Given the description of an element on the screen output the (x, y) to click on. 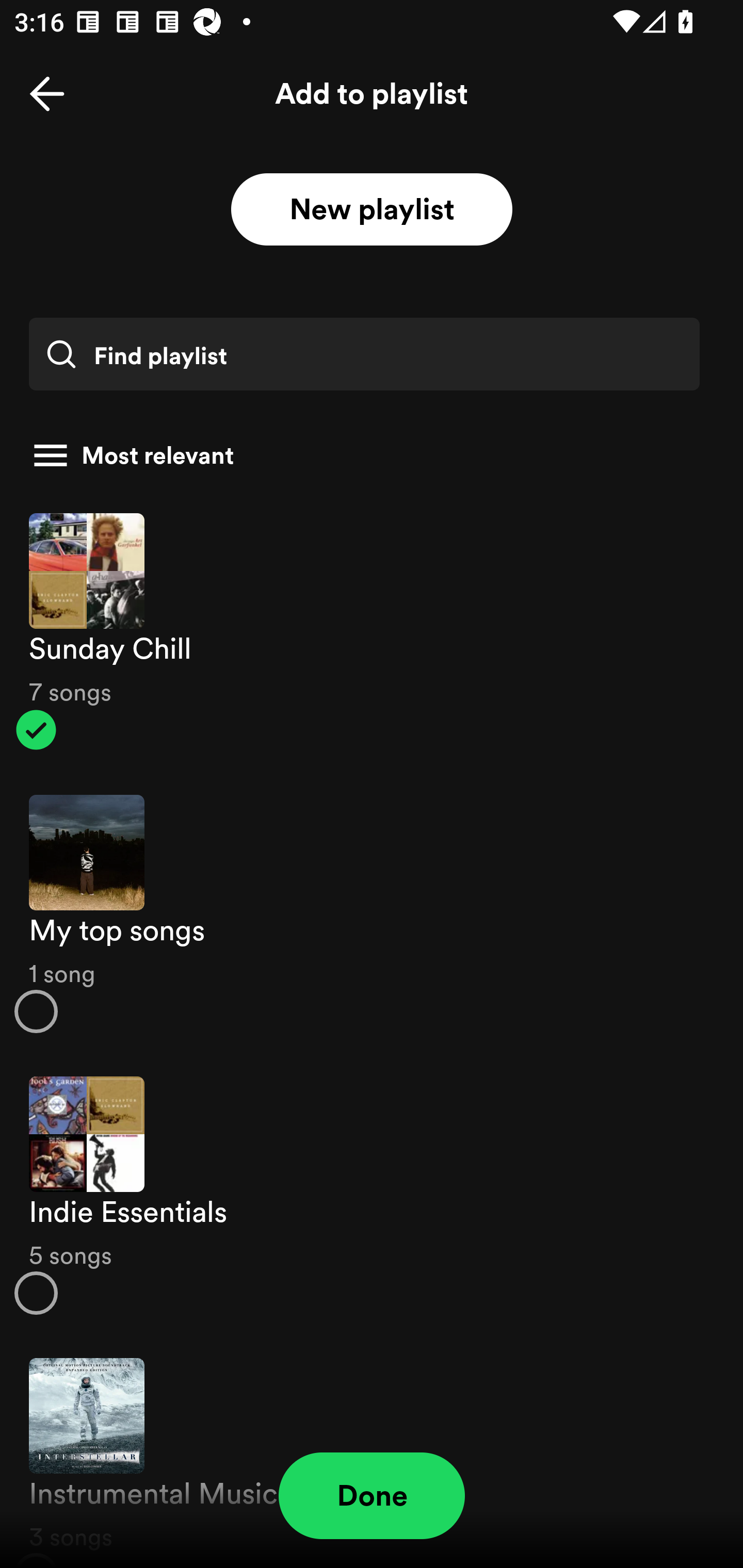
Back (46, 93)
New playlist (371, 210)
Find playlist (363, 354)
Most relevant (363, 455)
Sunday Chill 7 songs (371, 631)
My top songs 1 song (371, 914)
Indie Essentials 5 songs (371, 1195)
Instrumental Music 3 songs (371, 1451)
Done (371, 1495)
